Given the description of an element on the screen output the (x, y) to click on. 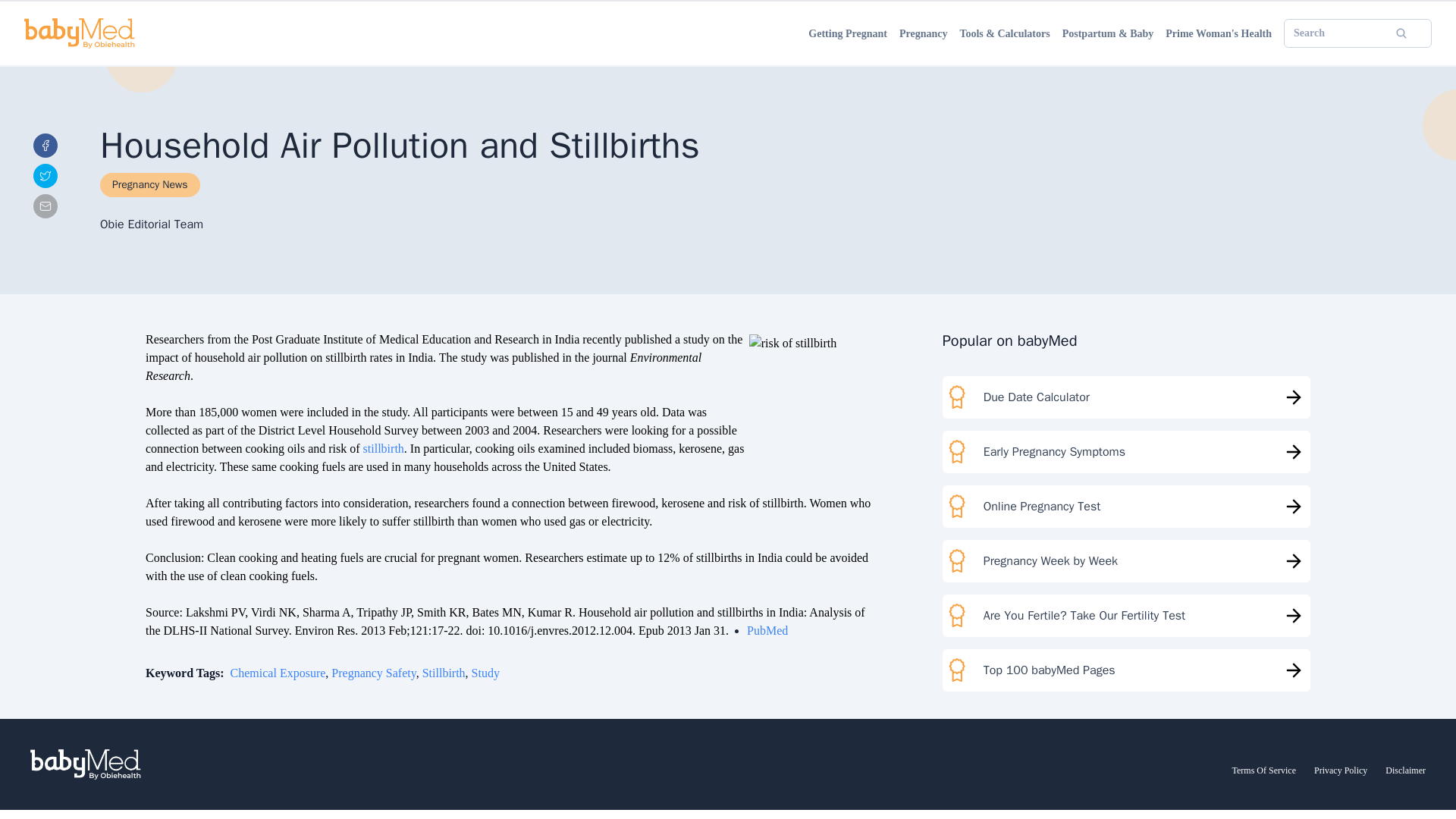
Terms Of Service (1263, 769)
PubMed (766, 630)
stillbirth (383, 448)
Stillbirth (443, 672)
Keyword Tags:Chemical Exposure (234, 672)
Pregnancy Safety (372, 672)
Pregnancy Week by Week (1126, 560)
Pregnancy (923, 33)
Disclaimer (1405, 769)
Getting Pregnant (847, 33)
Online Pregnancy Test (1126, 506)
Due Date Calculator (1126, 396)
Prime Woman's Health (1218, 33)
Study (485, 672)
PubMed (766, 630)
